Given the description of an element on the screen output the (x, y) to click on. 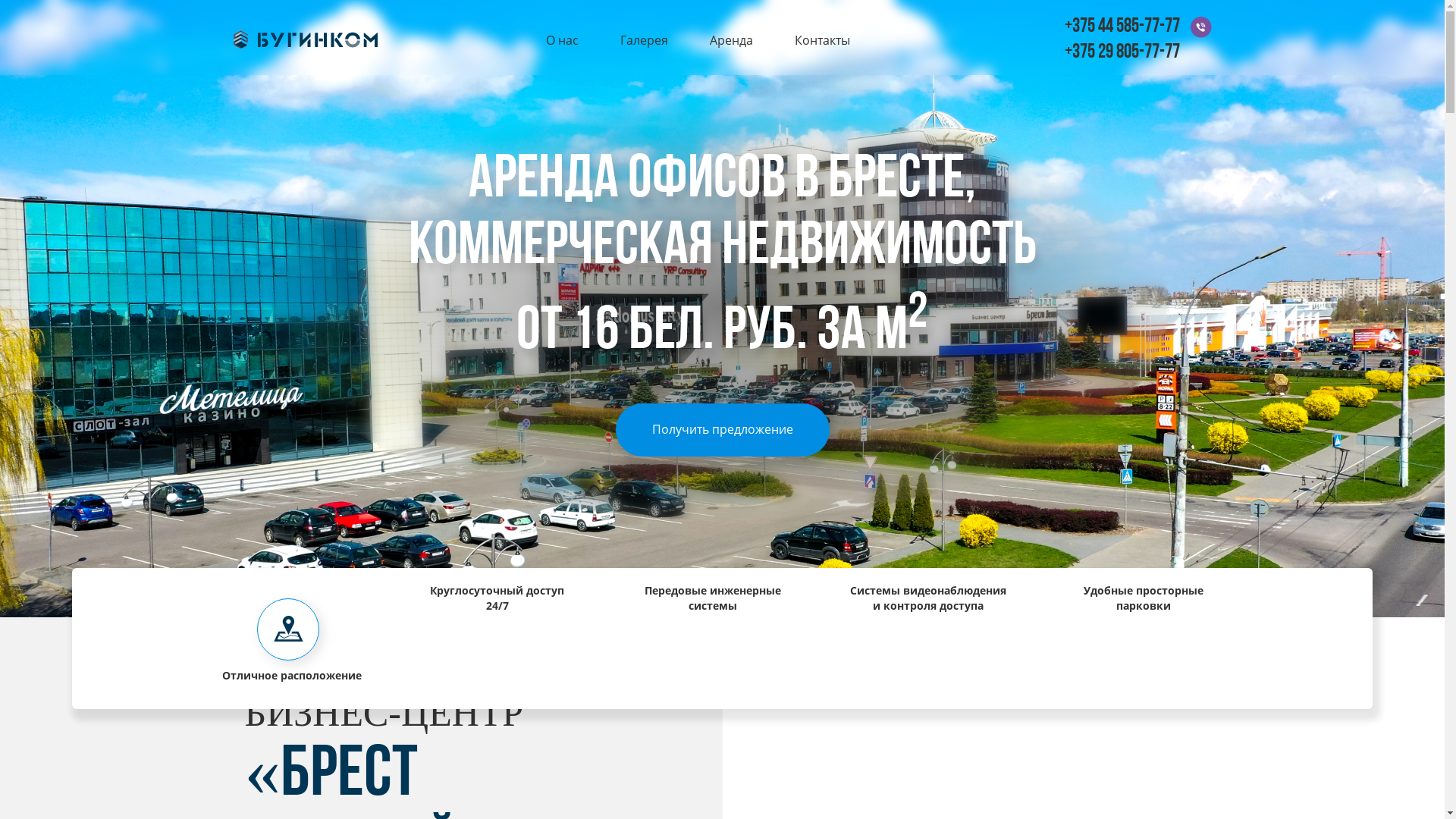
+375 29 805-77-77 Element type: text (1121, 52)
+375 44 585-77-77 Element type: text (1121, 27)
